Given the description of an element on the screen output the (x, y) to click on. 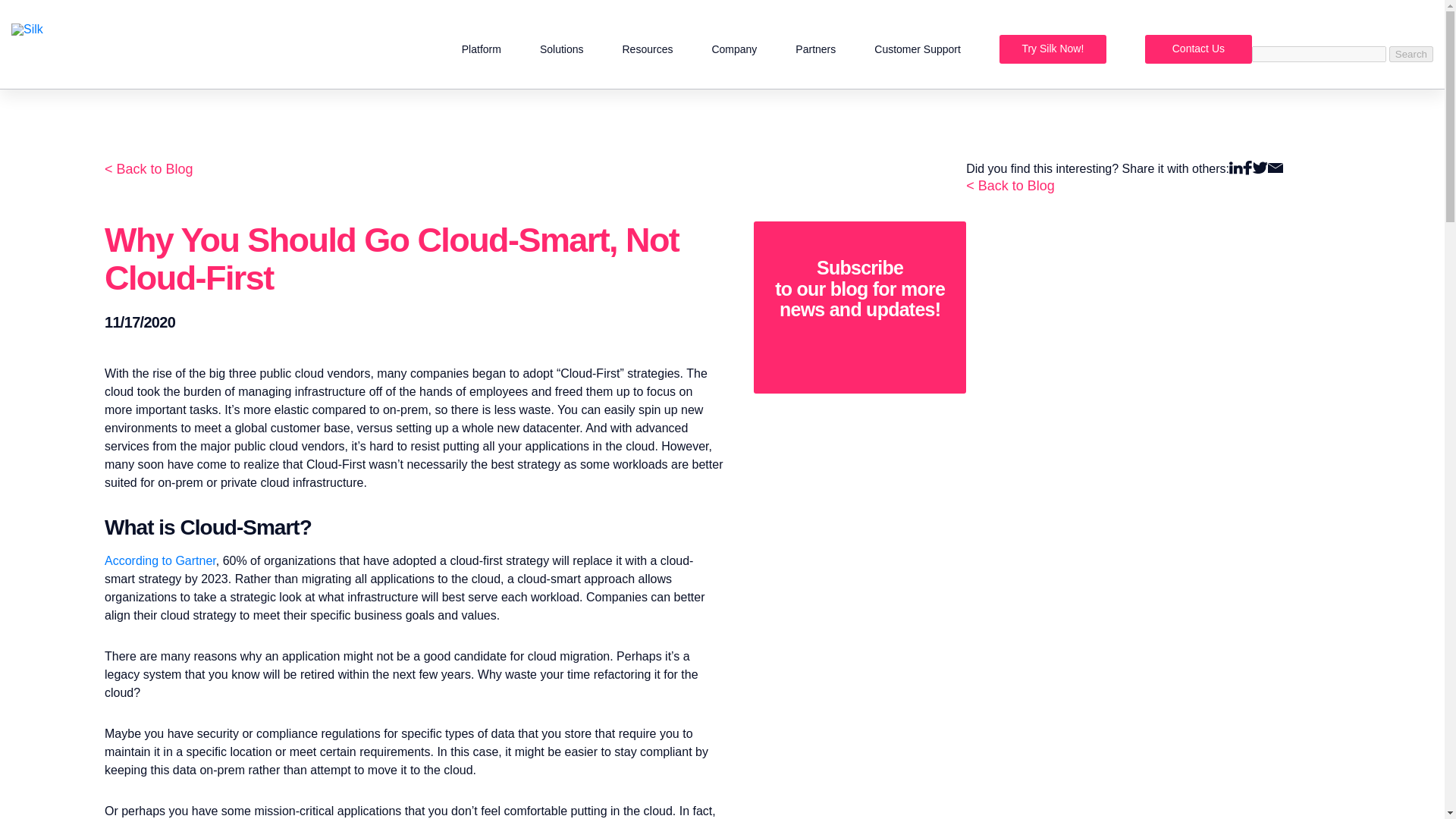
Search (1410, 53)
Resources (646, 48)
Solutions (561, 48)
Platform (480, 48)
